Given the description of an element on the screen output the (x, y) to click on. 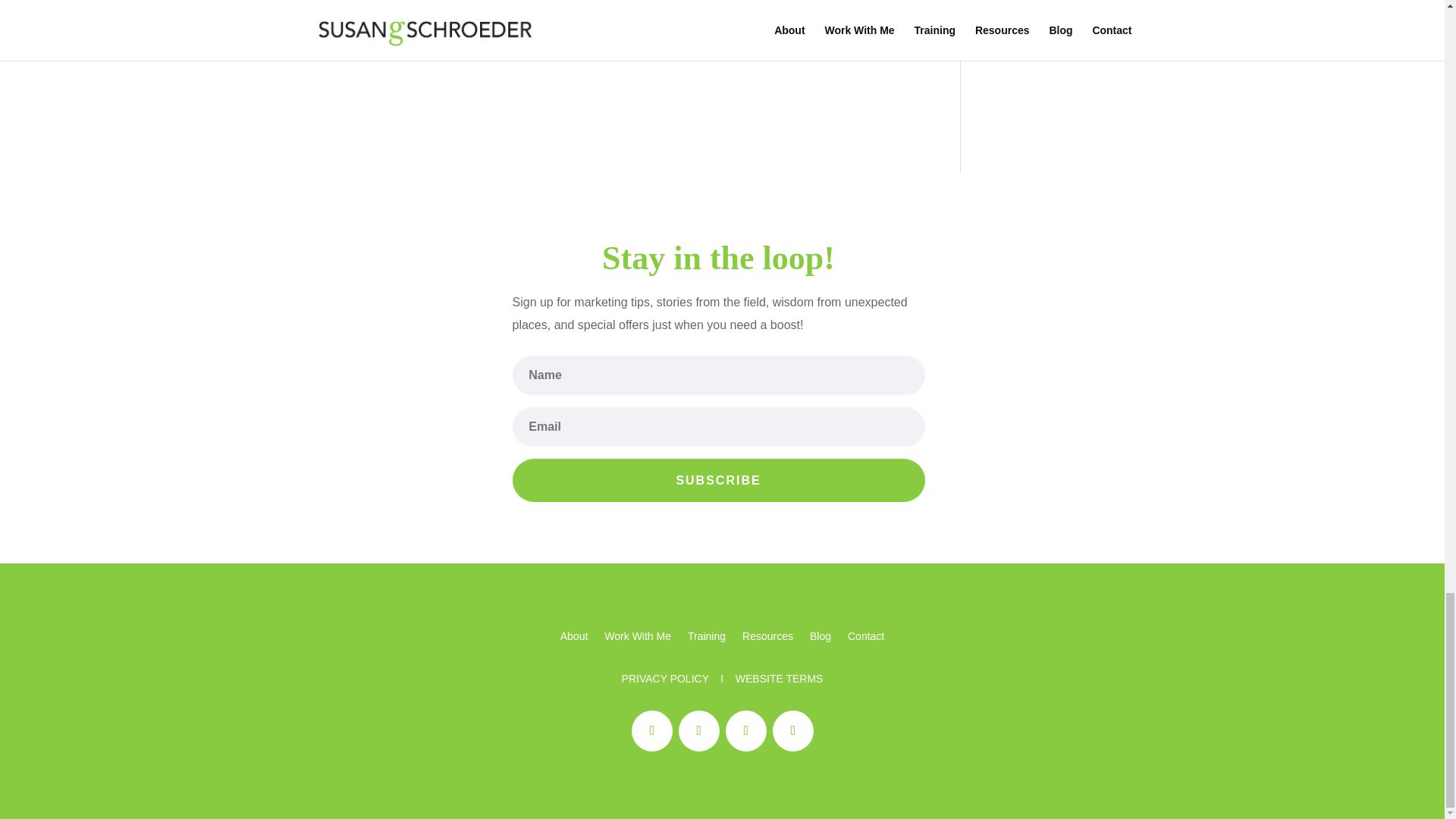
Submit Comment (840, 22)
SUBSCRIBE (718, 480)
Privacy Policy (665, 678)
Work With Me (637, 638)
Follow on Instagram (791, 730)
Follow on LinkedIn (745, 730)
Follow on Facebook (650, 730)
About (574, 638)
Submit Comment (840, 22)
Training (706, 638)
Follow on X (698, 730)
